Given the description of an element on the screen output the (x, y) to click on. 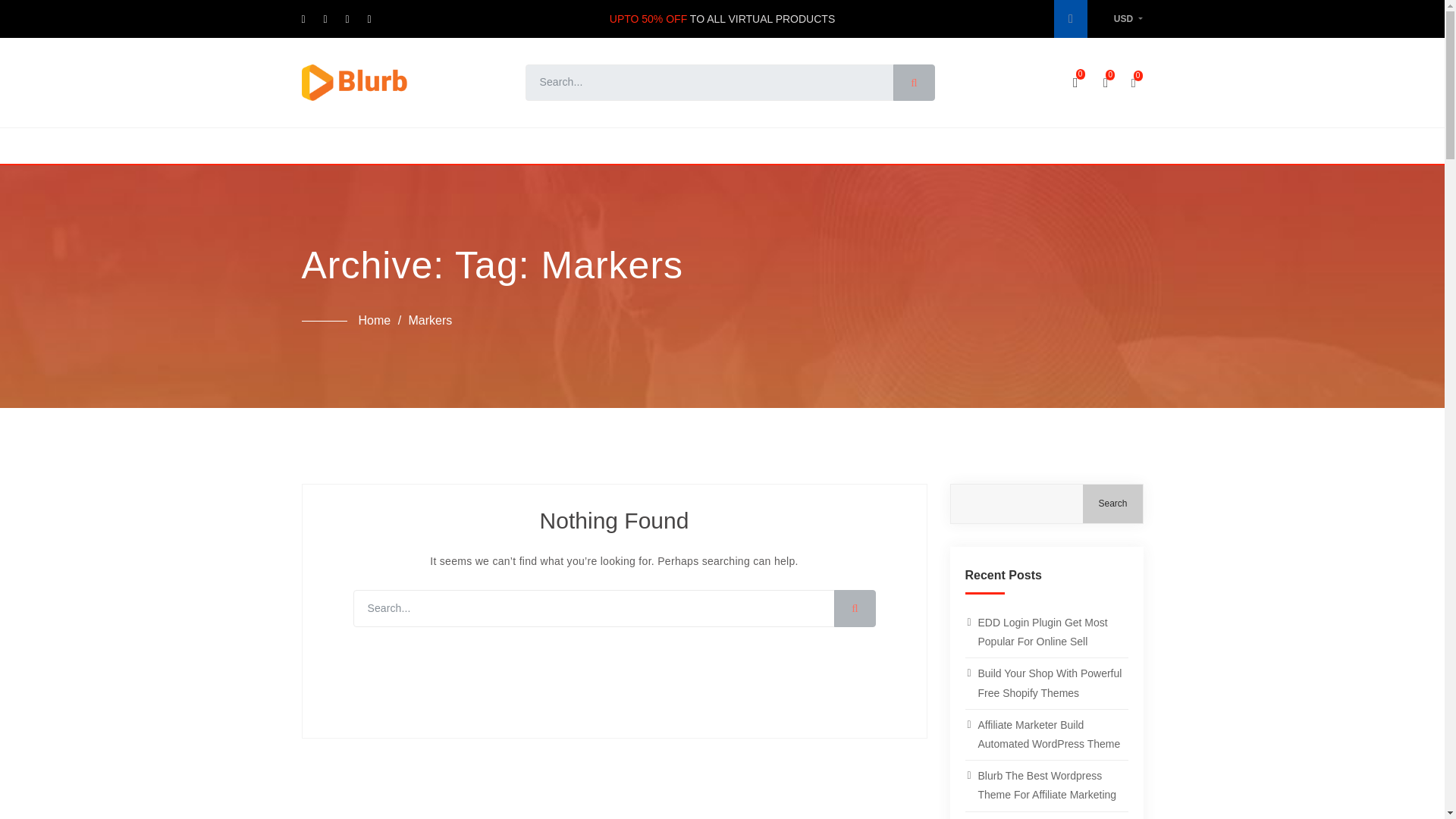
Home (374, 321)
Build Your Shop With Powerful Free Shopify Themes (1044, 683)
Affiliate Marketer Build Automated WordPress Theme (1044, 735)
Search (1112, 503)
Are You Looking For Multi Vendor Store Theme (1044, 815)
USD (1127, 19)
EDD Login Plugin Get Most Popular For Online Sell (1044, 632)
Blurb The Best Wordpress Theme For Affiliate Marketing (1044, 785)
